Given the description of an element on the screen output the (x, y) to click on. 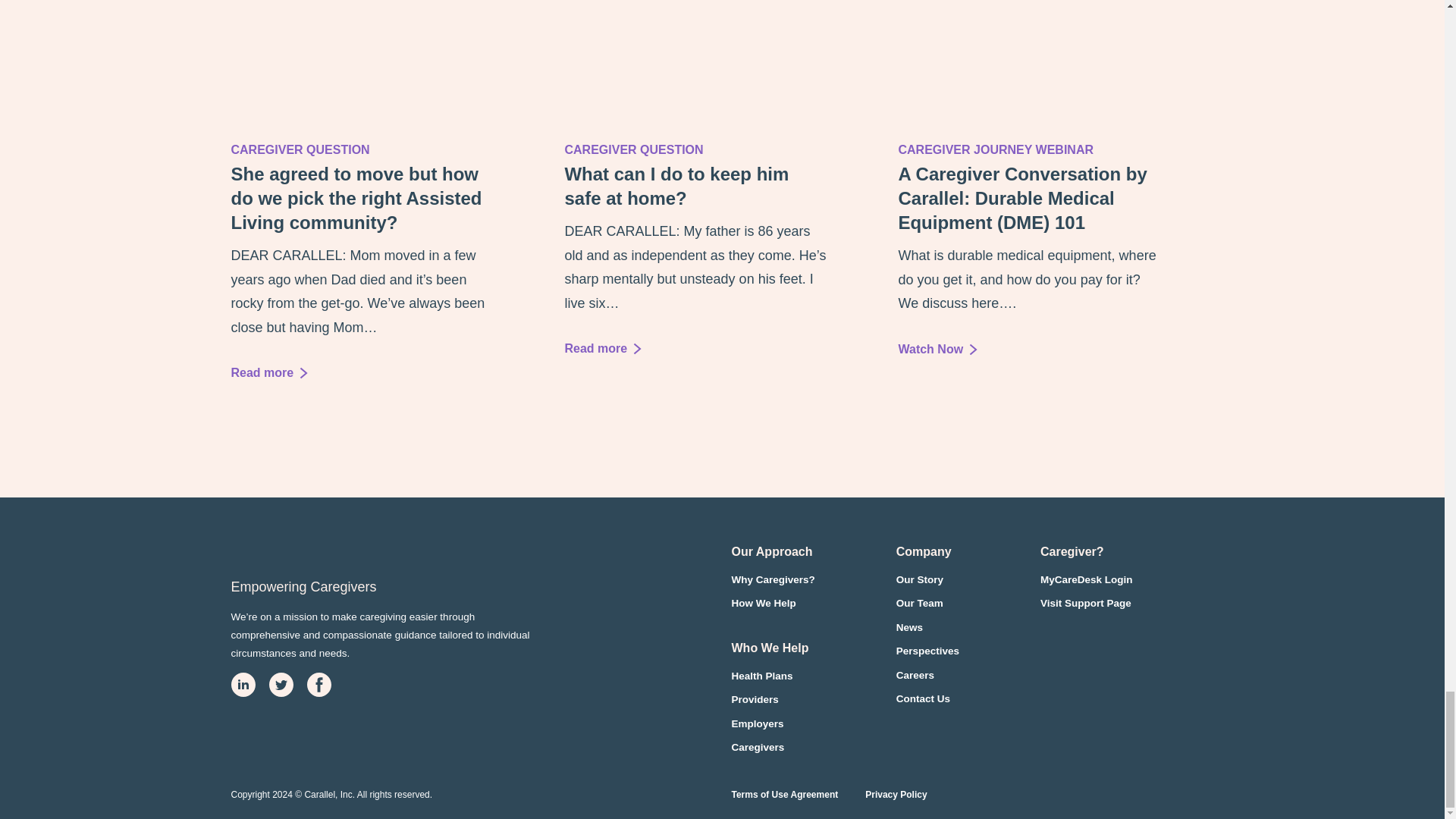
Read more (937, 349)
Read more (268, 372)
Read more (603, 348)
